Given the description of an element on the screen output the (x, y) to click on. 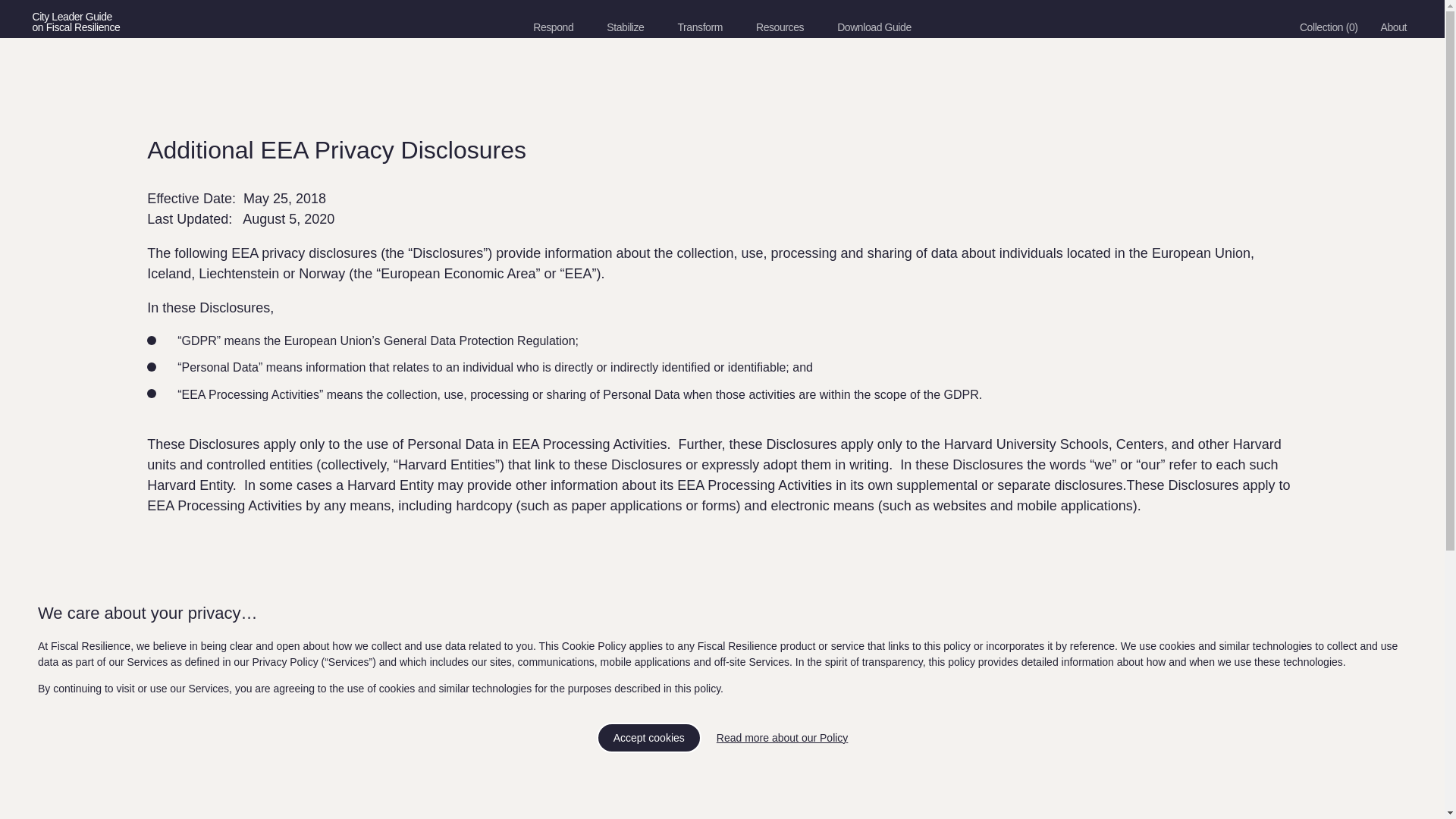
Download Guide (874, 27)
Accept cookies (648, 772)
Transform (699, 27)
Resources (779, 27)
Read more about our Policy (782, 770)
About (204, 21)
Respond (1393, 27)
Stabilize (552, 27)
